Given the description of an element on the screen output the (x, y) to click on. 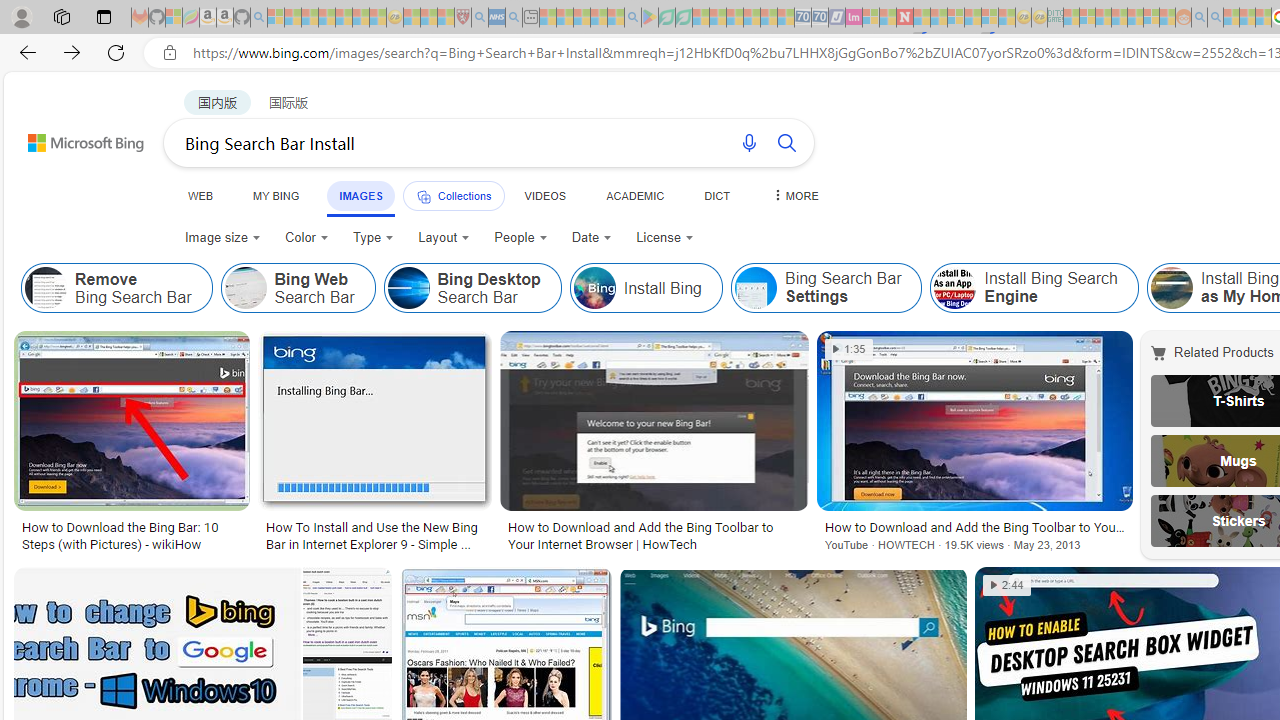
Remove Bing Search Bar (45, 287)
Date (591, 237)
Install Bing Search Engine (955, 287)
